Given the description of an element on the screen output the (x, y) to click on. 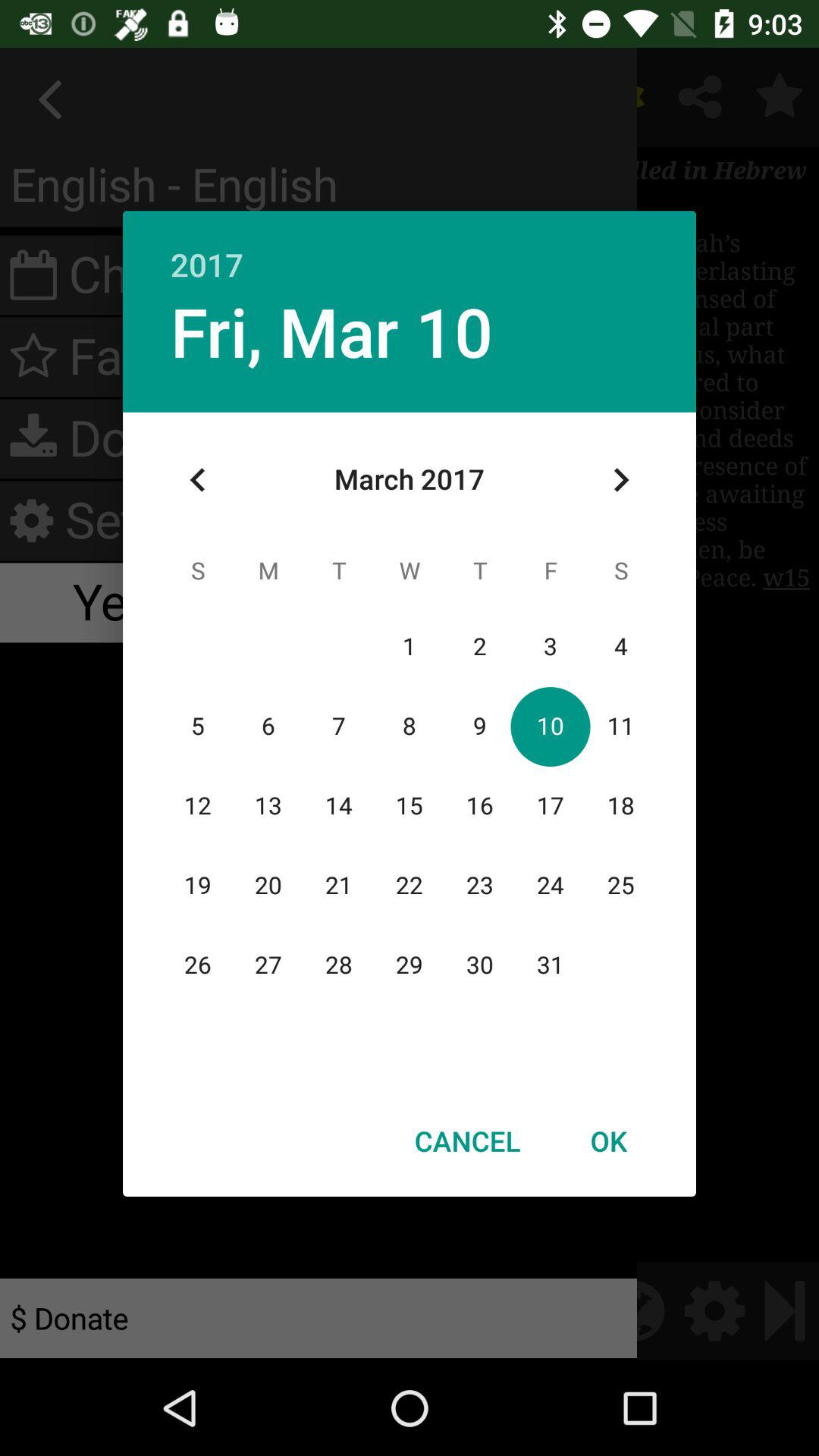
turn on the ok (608, 1140)
